Given the description of an element on the screen output the (x, y) to click on. 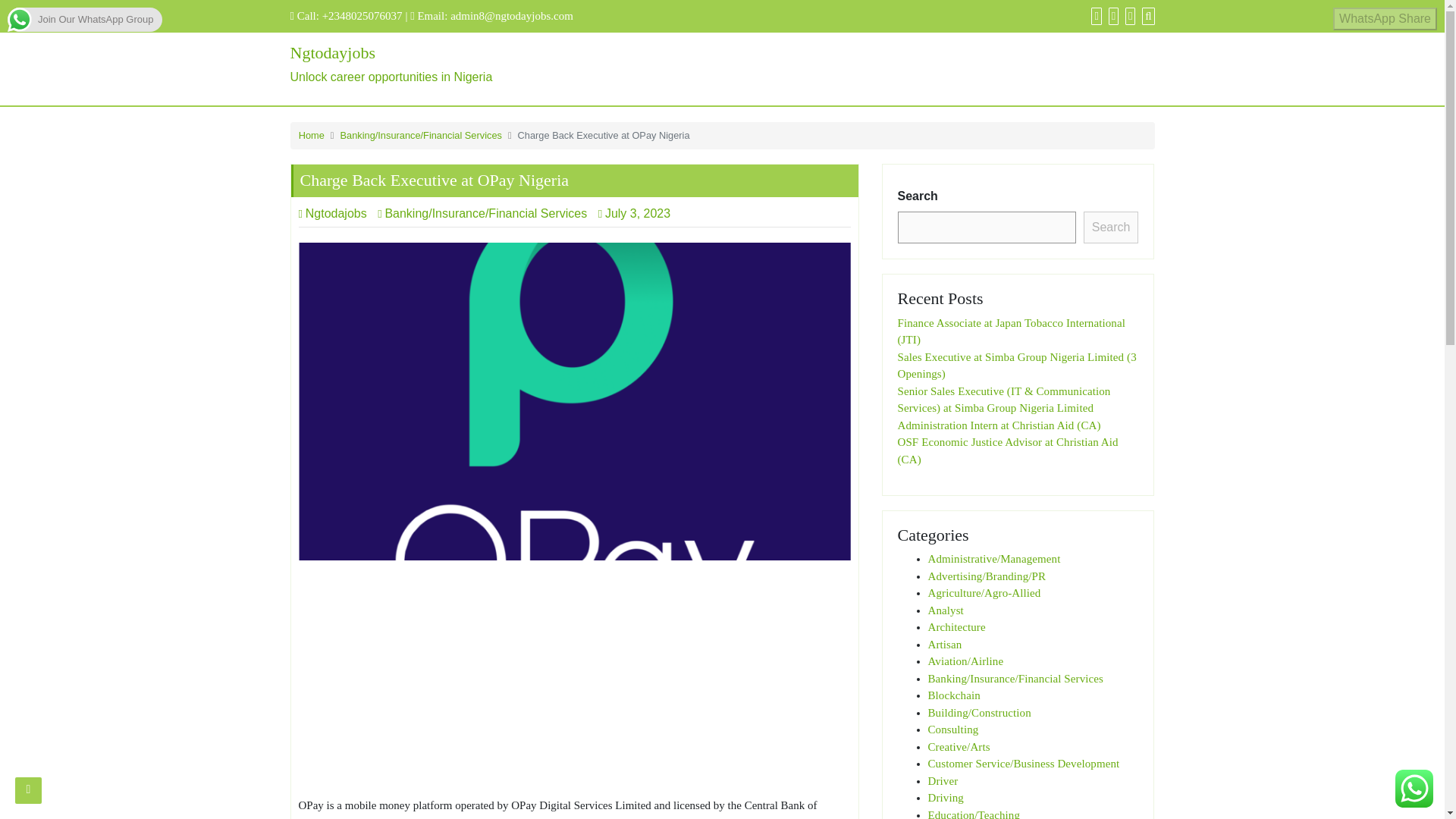
July 3, 2023 (638, 213)
Ngtodajobs (425, 65)
Consulting (332, 213)
Blockchain (953, 729)
Analyst (953, 695)
Advertisement (945, 610)
Artisan (574, 684)
Search (945, 644)
Home (1110, 227)
Architecture (311, 134)
